Given the description of an element on the screen output the (x, y) to click on. 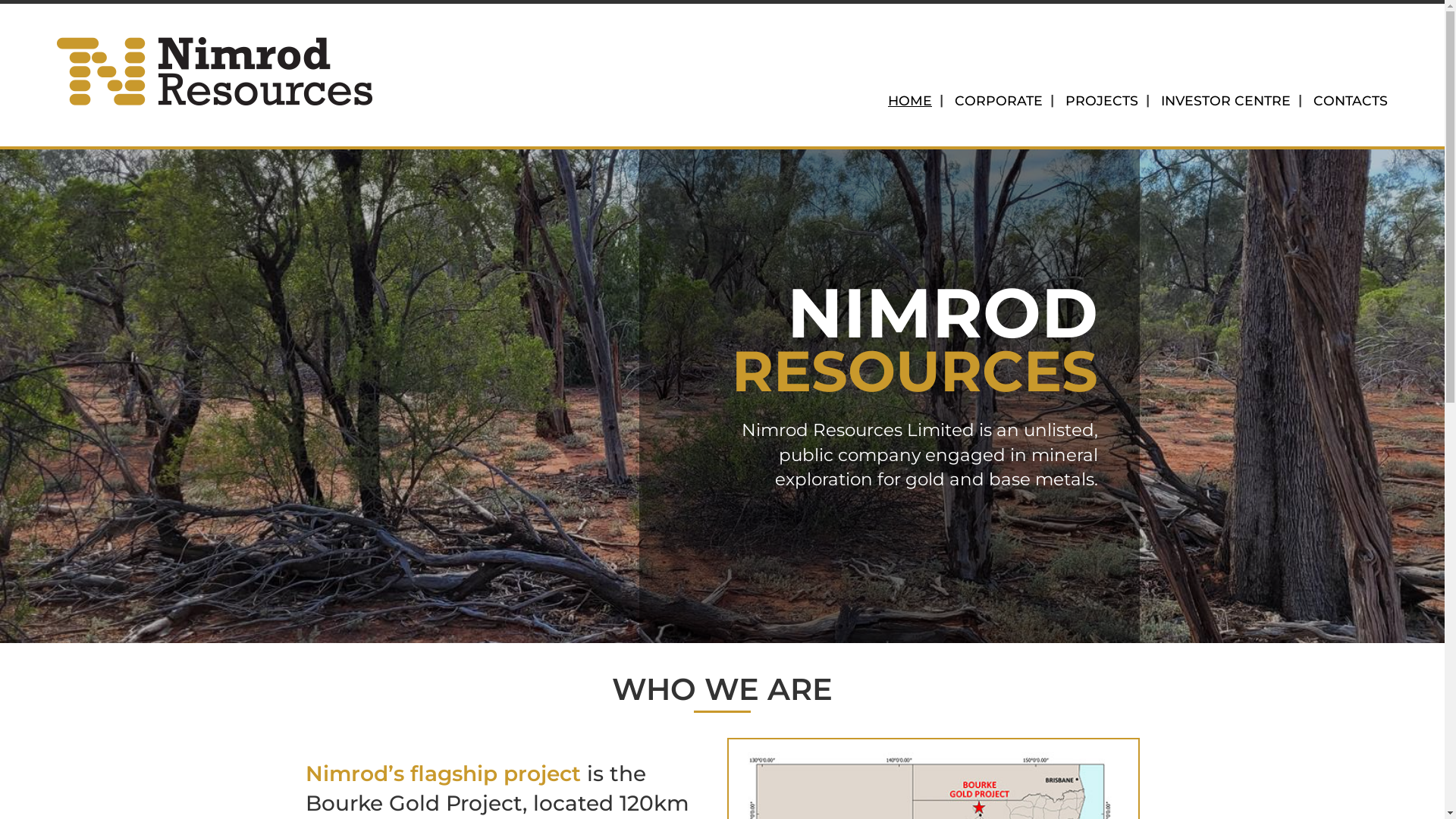
CONTACTS Element type: text (1344, 100)
PROJECTS Element type: text (1101, 100)
INVESTOR CENTRE Element type: text (1225, 100)
HOME Element type: text (909, 100)
CORPORATE Element type: text (998, 100)
